Given the description of an element on the screen output the (x, y) to click on. 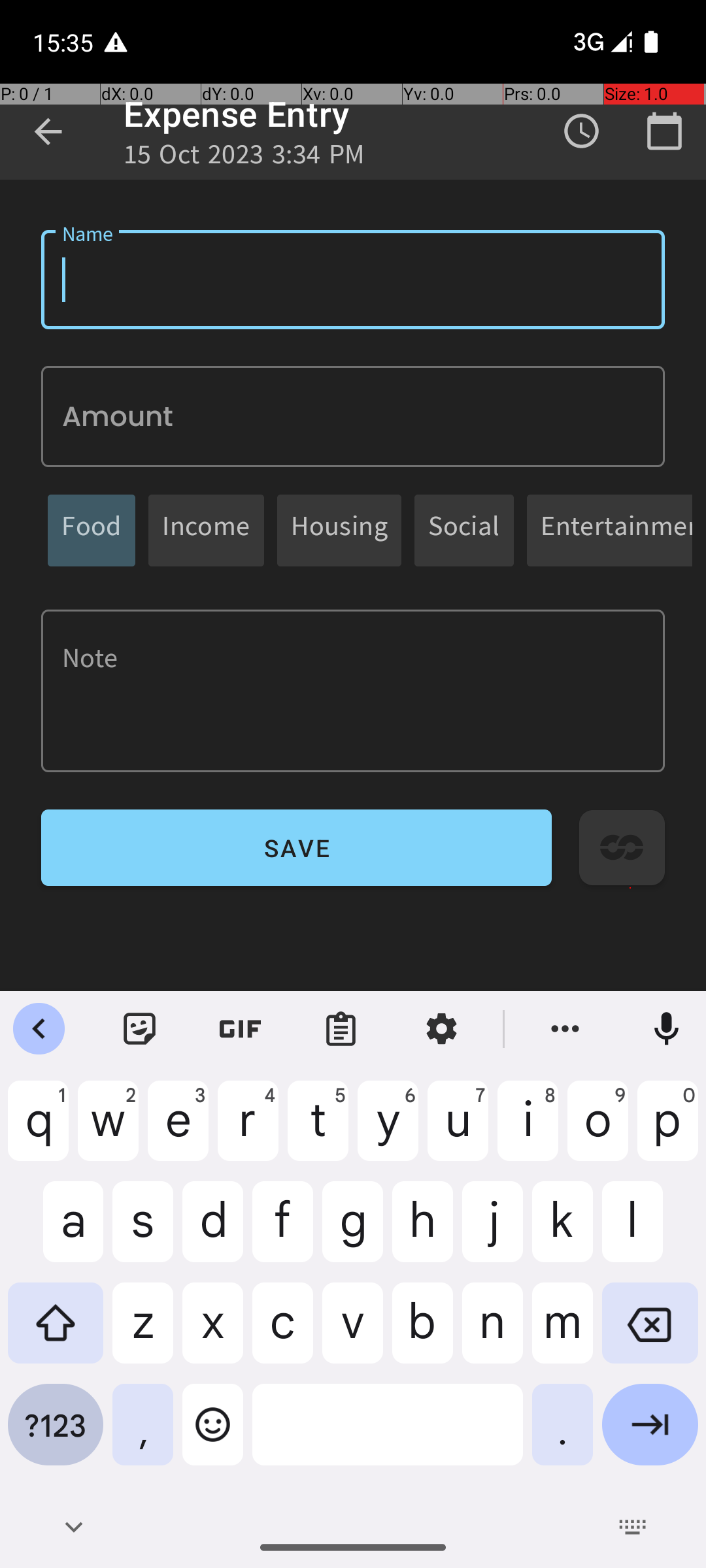
Close features menu Element type: android.widget.FrameLayout (39, 1028)
Sticker Keyboard Element type: android.widget.FrameLayout (139, 1028)
GIF Keyboard Element type: android.widget.FrameLayout (240, 1028)
More features Element type: android.widget.FrameLayout (565, 1028)
